Given the description of an element on the screen output the (x, y) to click on. 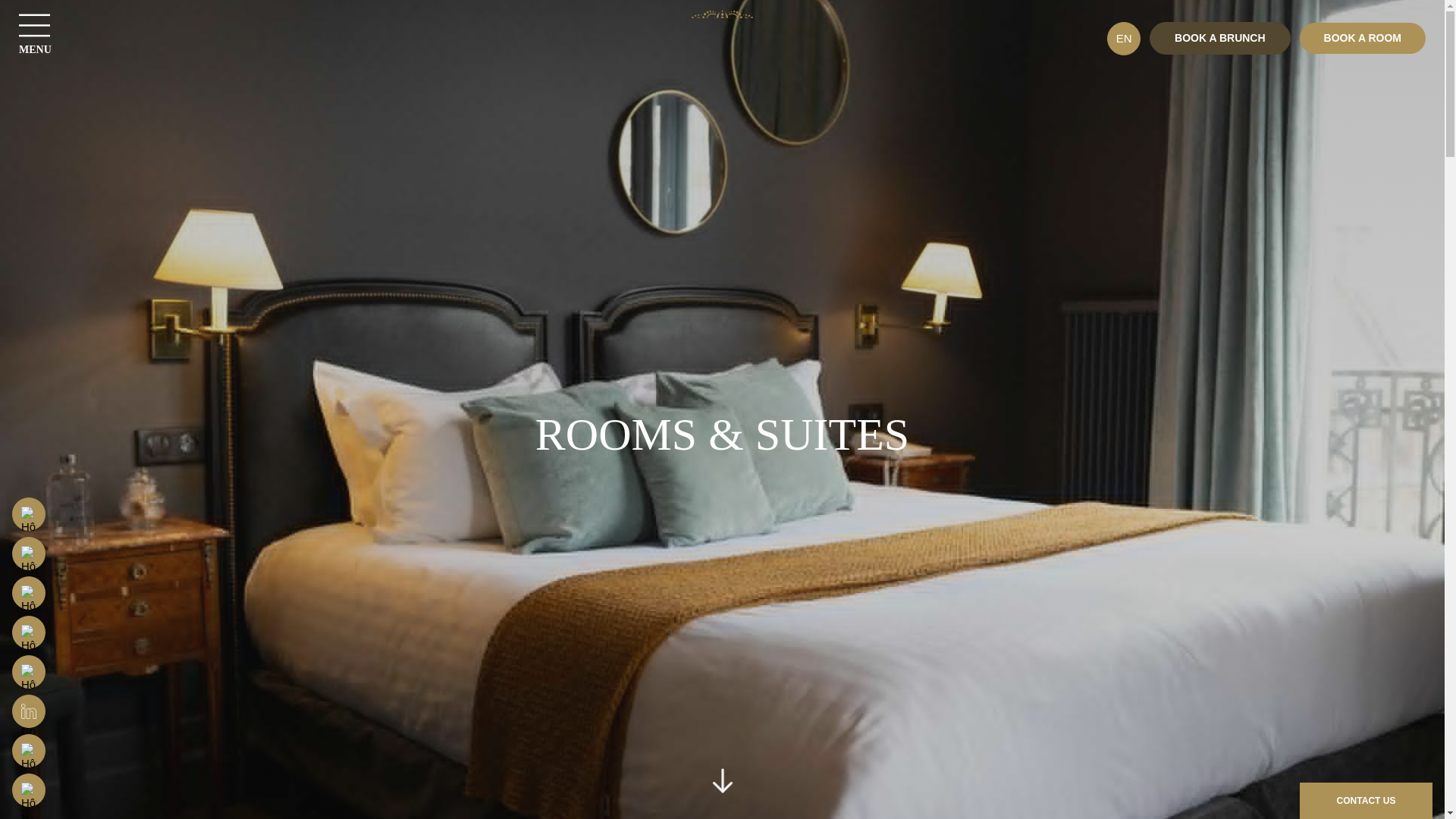
BOOK A ROOM (1362, 38)
EN (1123, 38)
BOOK A BRUNCH (1220, 38)
